Given the description of an element on the screen output the (x, y) to click on. 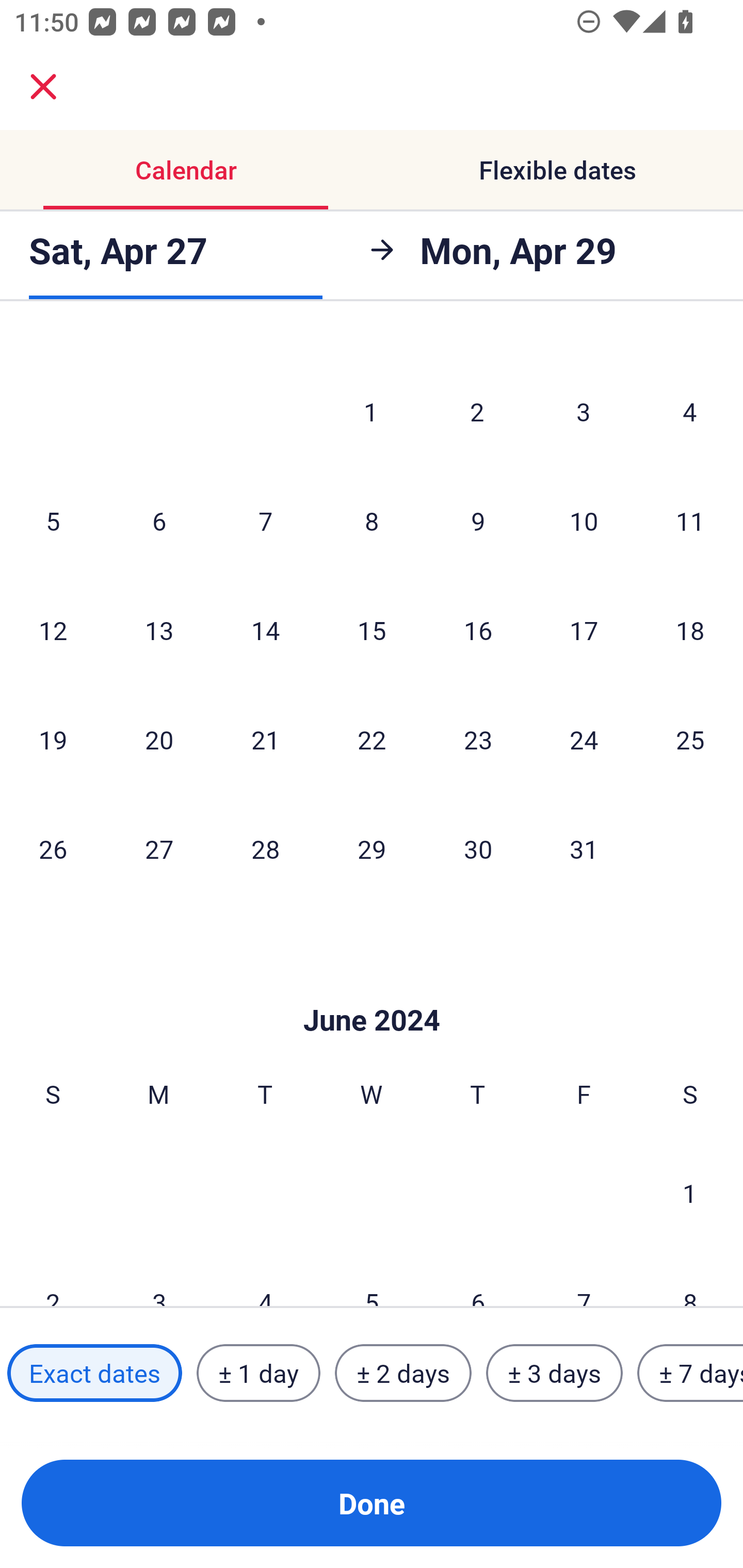
close. (43, 86)
Flexible dates (557, 170)
1 Wednesday, May 1, 2024 (371, 411)
2 Thursday, May 2, 2024 (477, 411)
3 Friday, May 3, 2024 (583, 411)
4 Saturday, May 4, 2024 (689, 411)
5 Sunday, May 5, 2024 (53, 520)
6 Monday, May 6, 2024 (159, 520)
7 Tuesday, May 7, 2024 (265, 520)
8 Wednesday, May 8, 2024 (371, 520)
9 Thursday, May 9, 2024 (477, 520)
10 Friday, May 10, 2024 (584, 520)
11 Saturday, May 11, 2024 (690, 520)
12 Sunday, May 12, 2024 (53, 630)
13 Monday, May 13, 2024 (159, 630)
14 Tuesday, May 14, 2024 (265, 630)
15 Wednesday, May 15, 2024 (371, 630)
16 Thursday, May 16, 2024 (477, 630)
17 Friday, May 17, 2024 (584, 630)
18 Saturday, May 18, 2024 (690, 630)
19 Sunday, May 19, 2024 (53, 738)
20 Monday, May 20, 2024 (159, 738)
21 Tuesday, May 21, 2024 (265, 738)
22 Wednesday, May 22, 2024 (371, 738)
23 Thursday, May 23, 2024 (477, 738)
24 Friday, May 24, 2024 (584, 738)
25 Saturday, May 25, 2024 (690, 738)
26 Sunday, May 26, 2024 (53, 848)
27 Monday, May 27, 2024 (159, 848)
28 Tuesday, May 28, 2024 (265, 848)
29 Wednesday, May 29, 2024 (371, 848)
30 Thursday, May 30, 2024 (477, 848)
31 Friday, May 31, 2024 (584, 848)
Skip to Done (371, 989)
1 Saturday, June 1, 2024 (689, 1191)
Exact dates (94, 1372)
± 1 day (258, 1372)
± 2 days (403, 1372)
± 3 days (553, 1372)
± 7 days (690, 1372)
Done (371, 1502)
